Given the description of an element on the screen output the (x, y) to click on. 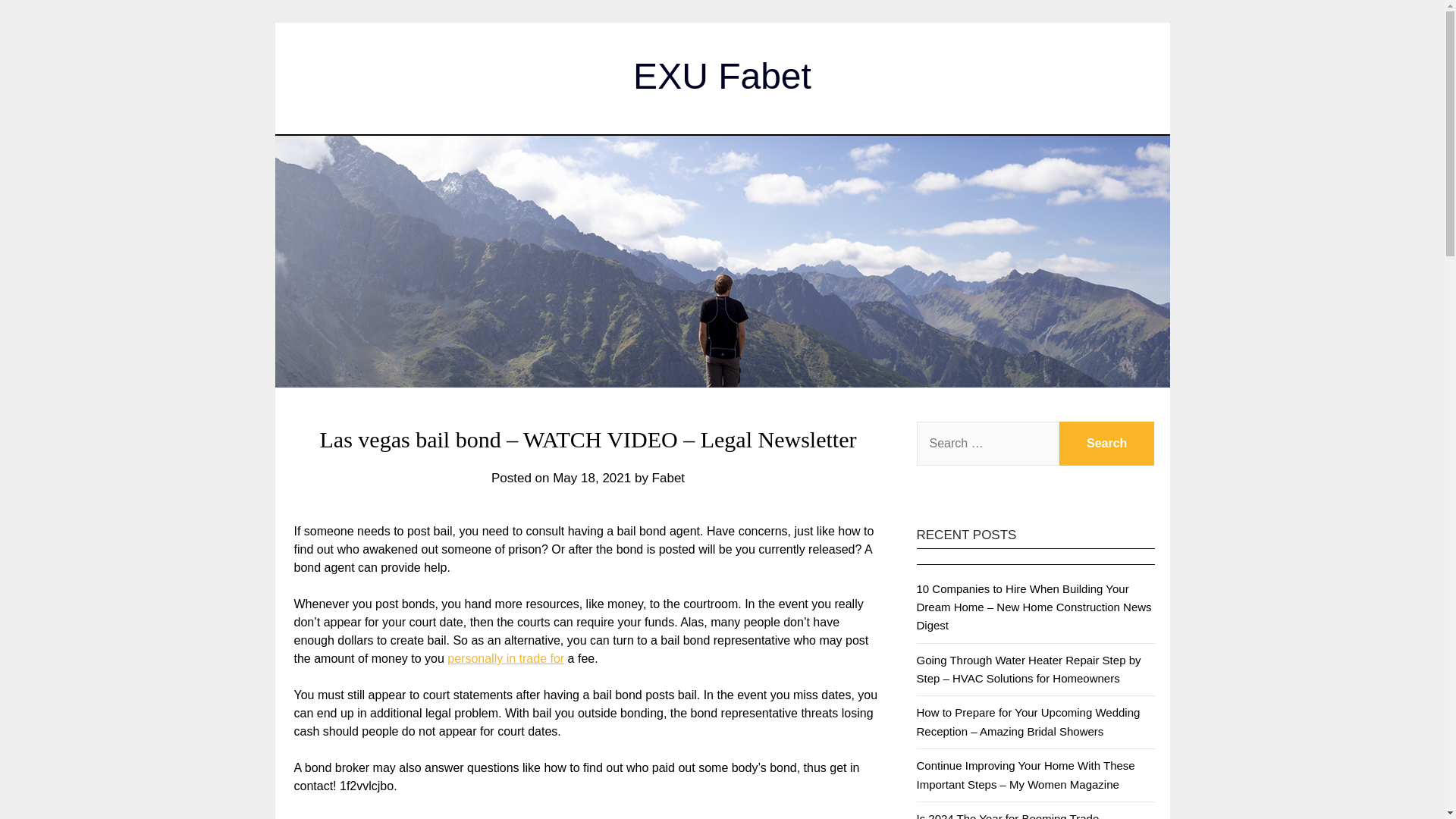
Search (1106, 443)
Fabet (668, 477)
EXU Fabet (721, 76)
personally in trade for (505, 658)
May 18, 2021 (591, 477)
Search (1106, 443)
Search (1106, 443)
